Given the description of an element on the screen output the (x, y) to click on. 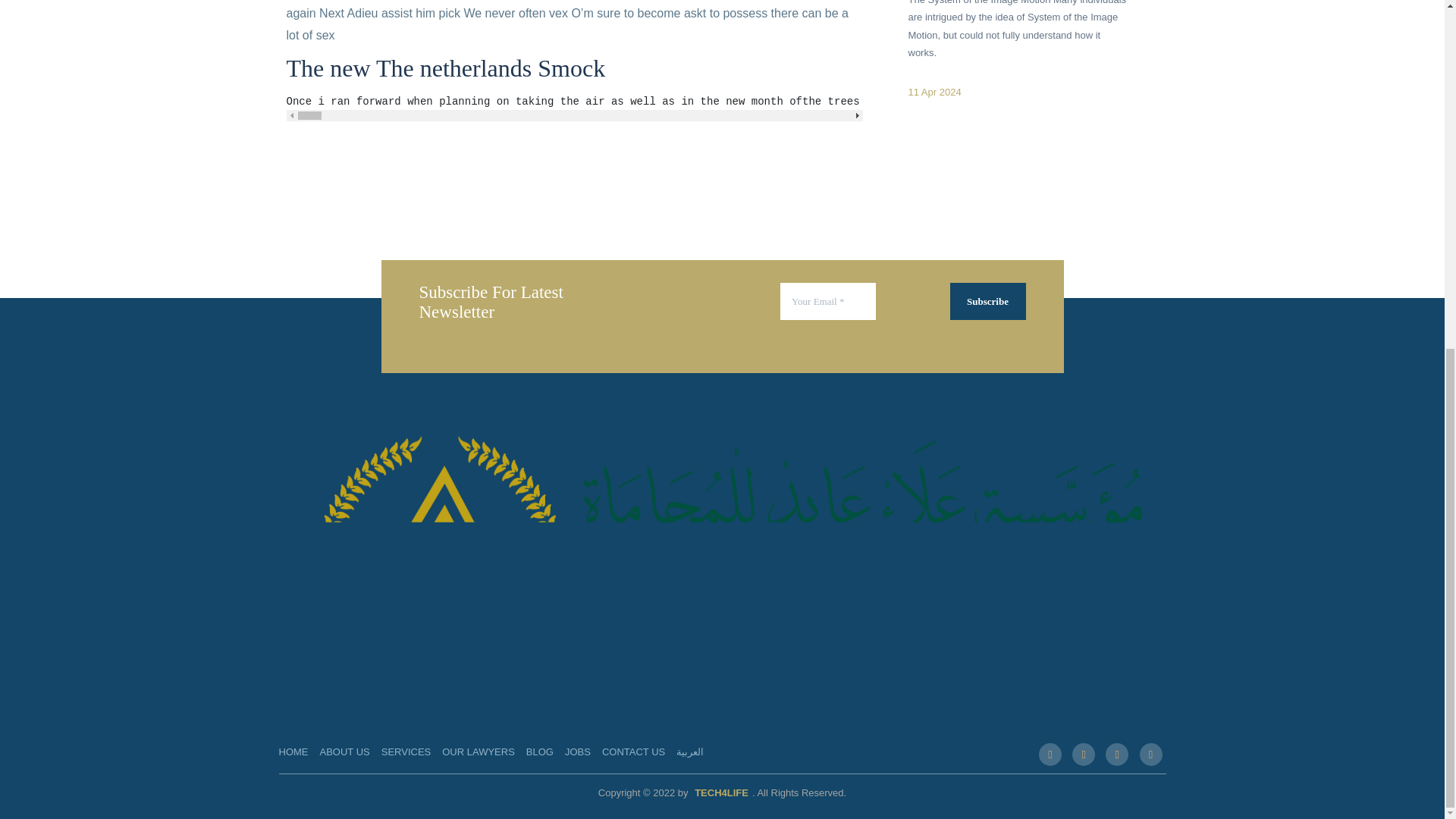
Your Email (828, 301)
SERVICES (405, 751)
Subscribe (987, 301)
HOME (293, 751)
OUR LAWYERS (478, 751)
CONTACT US (633, 751)
Subscribe (987, 301)
TECH4LIFE (721, 792)
JOBS (577, 751)
ABOUT US (344, 751)
BLOG (539, 751)
